Given the description of an element on the screen output the (x, y) to click on. 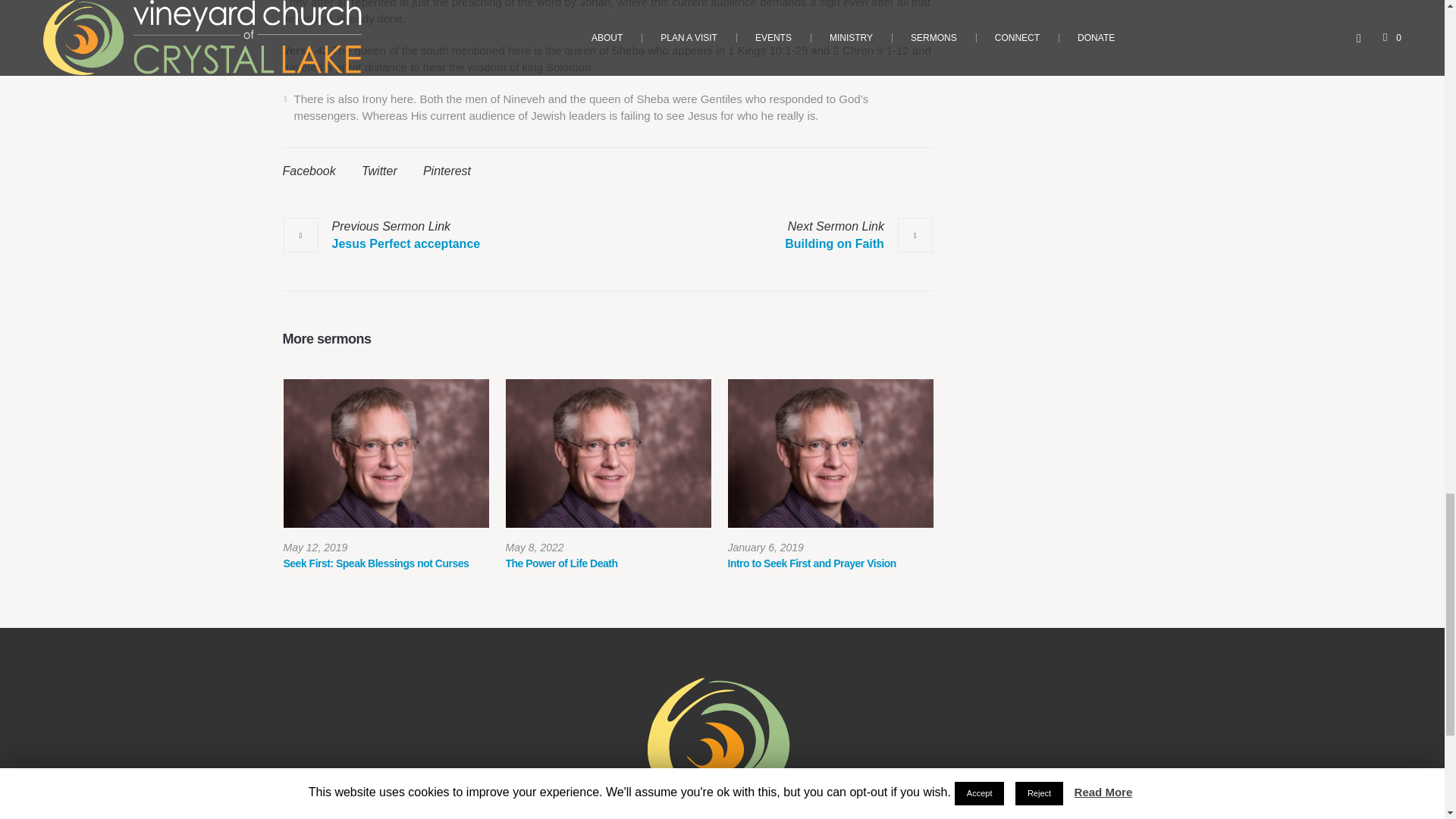
The Power of Life Death (607, 453)
May 8, 2022 (534, 547)
Seek First: Speak Blessings not Curses (386, 453)
May 12, 2019 (315, 547)
Intro to Seek First and Prayer Vision (830, 453)
